Given the description of an element on the screen output the (x, y) to click on. 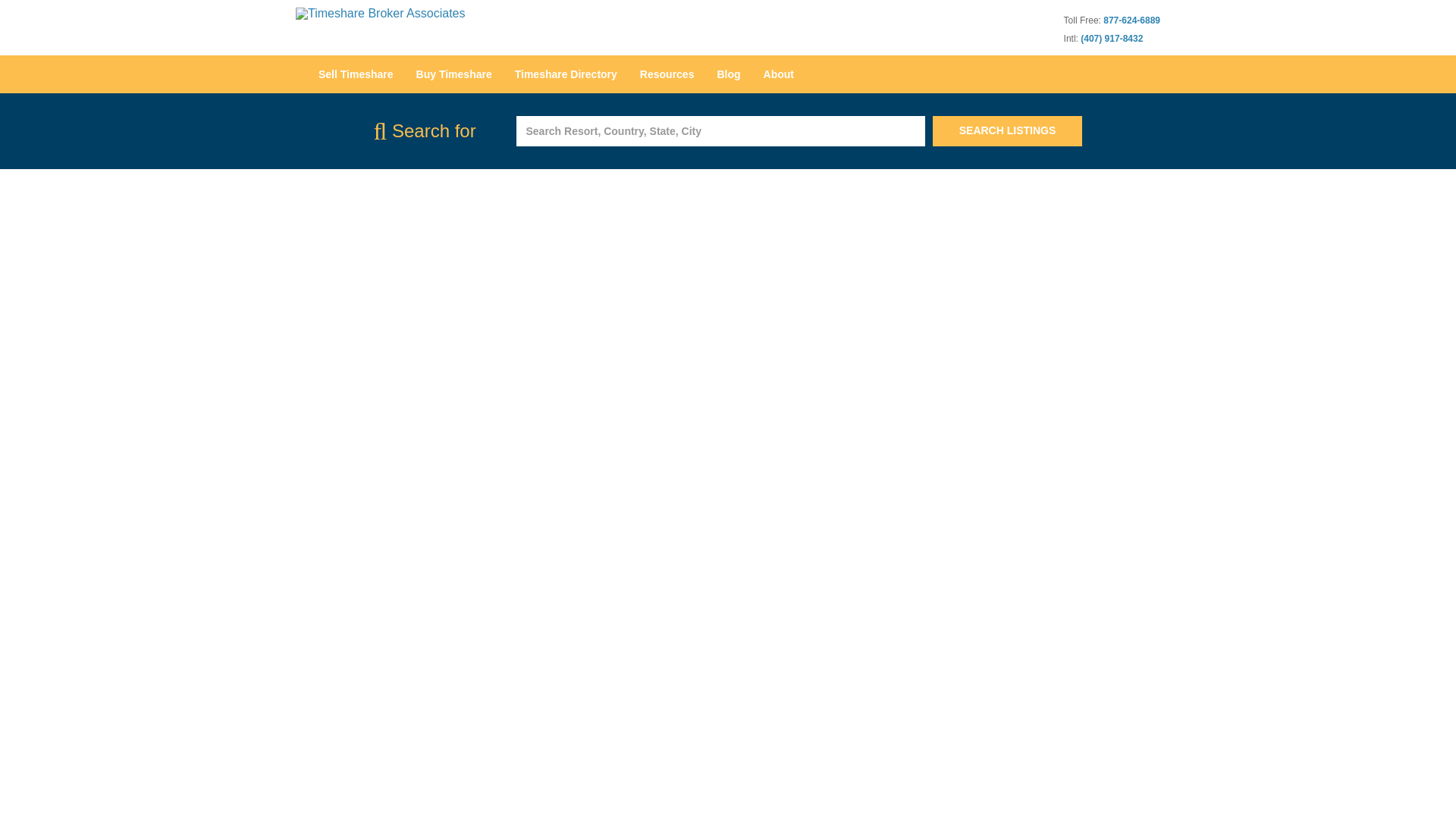
877-624-6889 (1131, 20)
Search Listings (1008, 131)
Buy Timeshare (453, 74)
Search Resort, Country, State, City (720, 131)
Timeshare Directory (565, 74)
Sell Timeshare (355, 74)
